Given the description of an element on the screen output the (x, y) to click on. 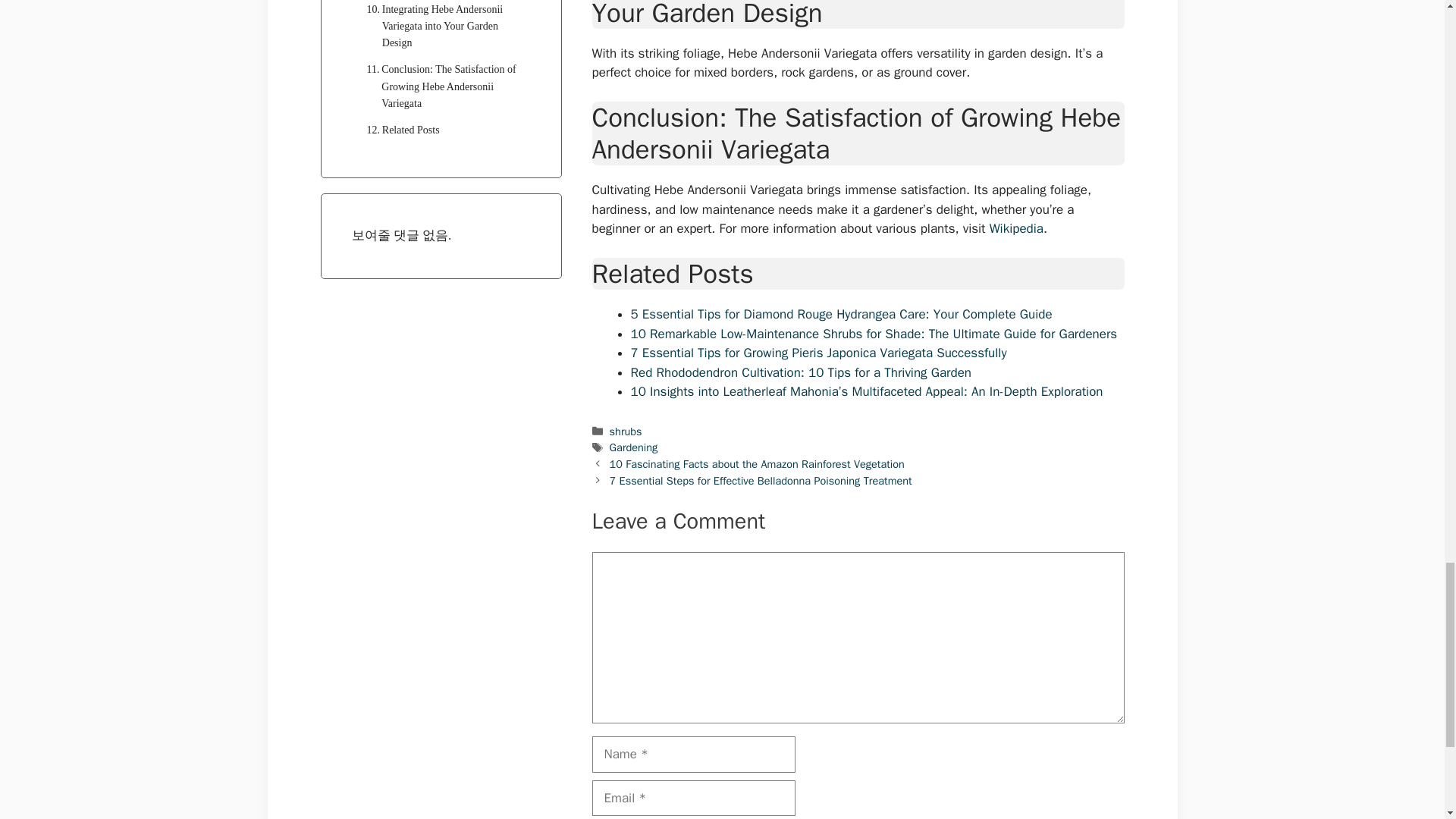
shrubs (626, 431)
10 Fascinating Facts about the Amazon Rainforest Vegetation (757, 463)
Red Rhododendron Cultivation: 10 Tips for a Thriving Garden (801, 372)
Wikipedia (1016, 228)
Gardening (634, 447)
